Given the description of an element on the screen output the (x, y) to click on. 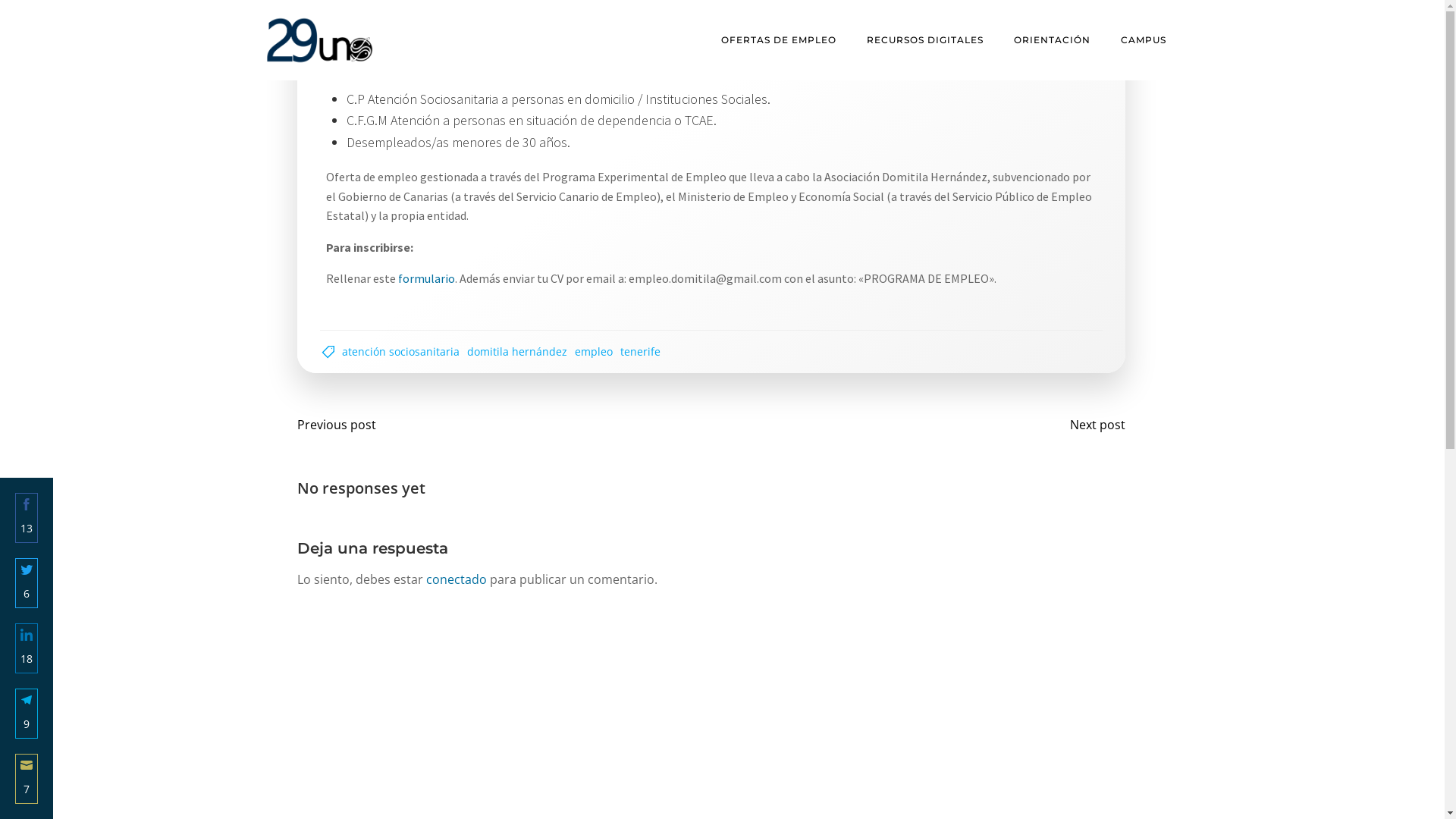
empleo Element type: text (593, 351)
9
Share on Telegram Element type: text (26, 713)
RECURSOS DIGITALES Element type: text (924, 40)
13
Share on Facebook Element type: text (26, 517)
Next post Element type: text (1092, 424)
formulario Element type: text (425, 277)
tenerife Element type: text (640, 351)
OFERTAS DE EMPLEO Element type: text (778, 40)
mayo 11, 2023 Element type: text (1059, 16)
6
Share on Twitter Element type: text (26, 583)
Previous post Element type: text (340, 424)
conectado Element type: text (456, 579)
7
Share on Email Element type: text (26, 778)
18
Share on LinkedIn Element type: text (26, 648)
CAMPUS Element type: text (1143, 40)
